Given the description of an element on the screen output the (x, y) to click on. 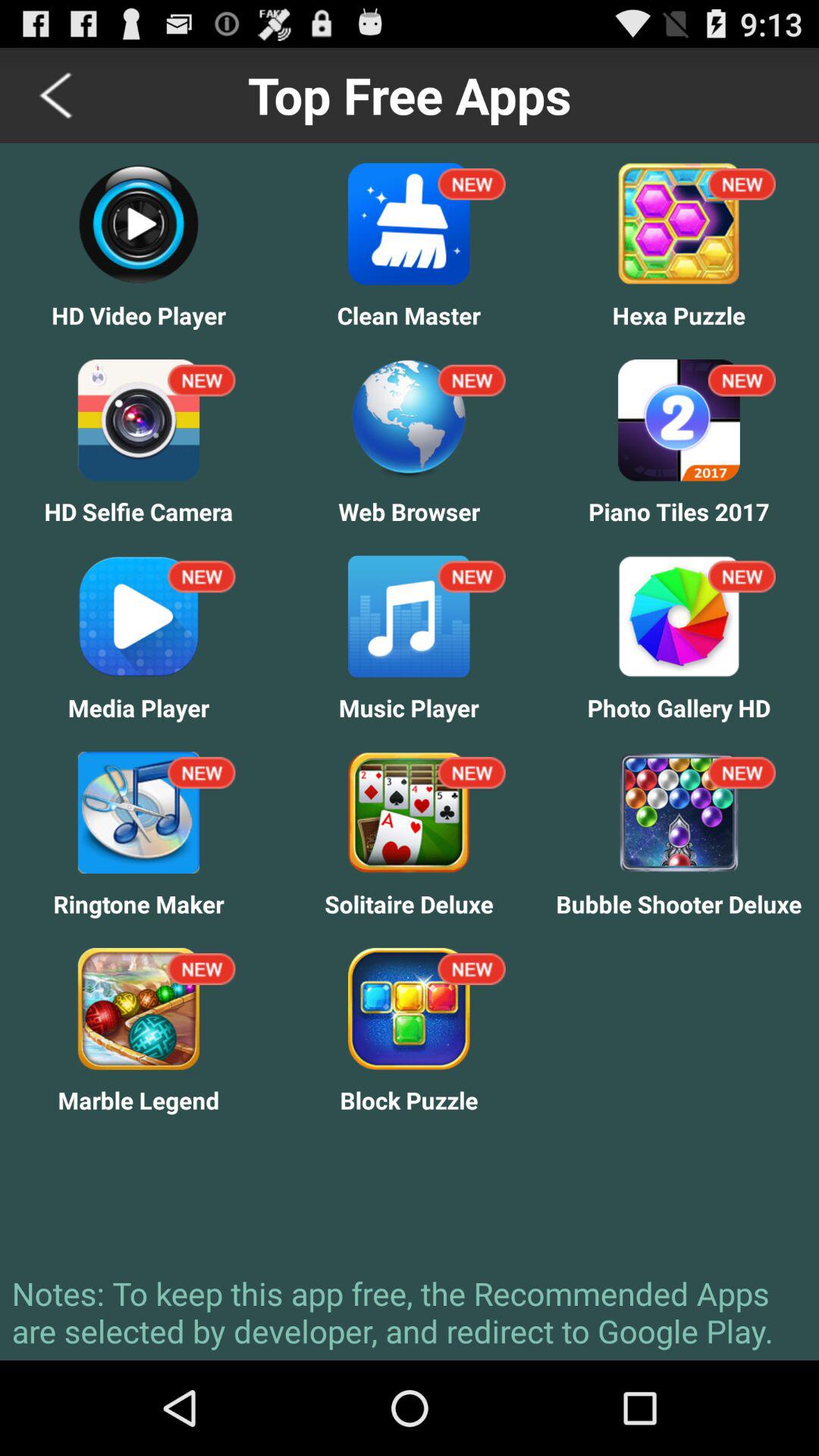
go to previous (57, 95)
